Given the description of an element on the screen output the (x, y) to click on. 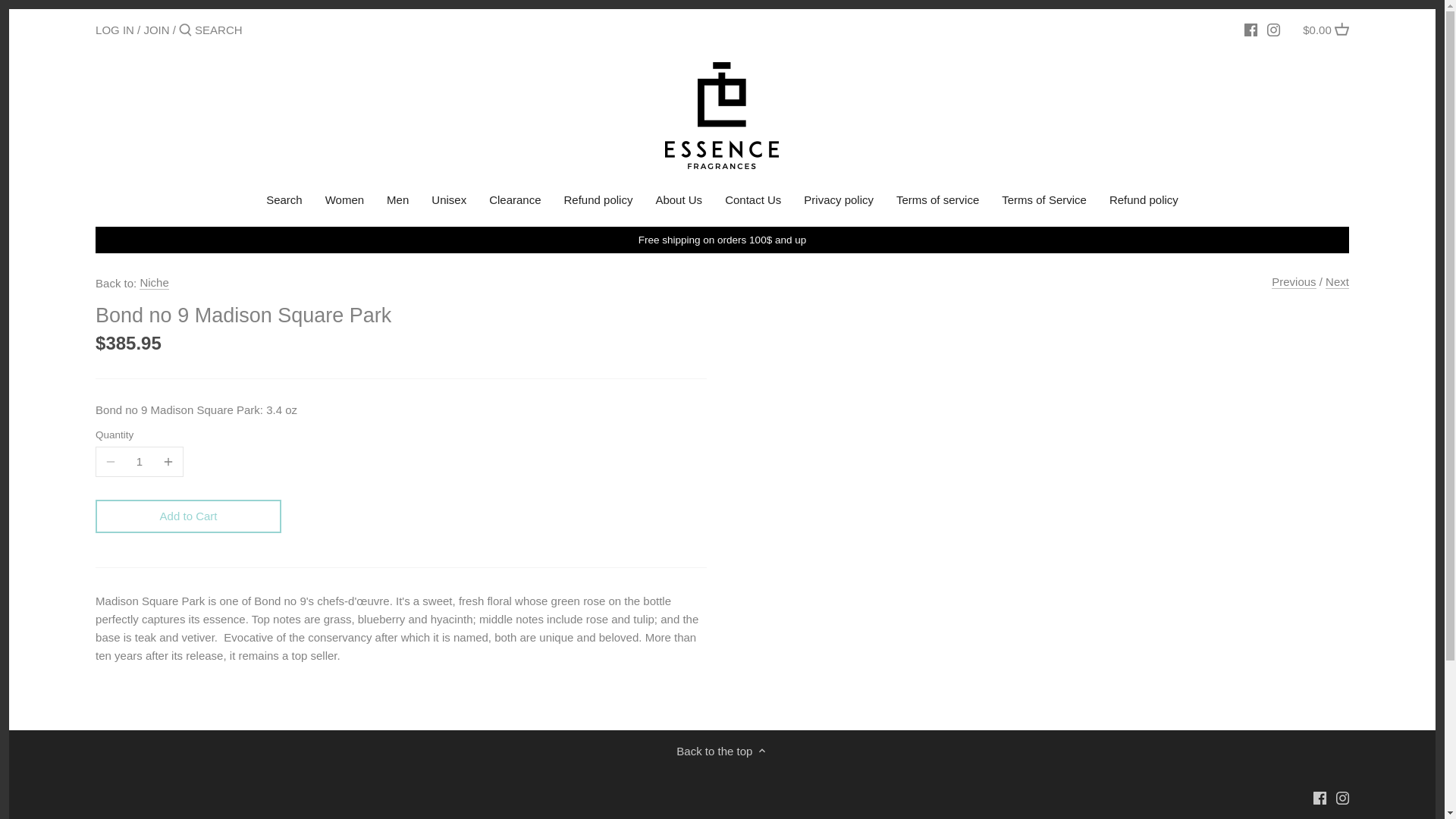
Refund policy (599, 202)
Previous (1293, 281)
1 (139, 461)
Privacy policy (838, 202)
Refund policy (1143, 202)
Facebook (1319, 796)
FACEBOOK (1250, 29)
Terms of service (937, 202)
Contact Us (752, 202)
Search (284, 202)
FACEBOOK (1250, 29)
Clearance (514, 202)
Unisex (448, 202)
LOG IN (114, 29)
INSTAGRAM (1272, 29)
